Given the description of an element on the screen output the (x, y) to click on. 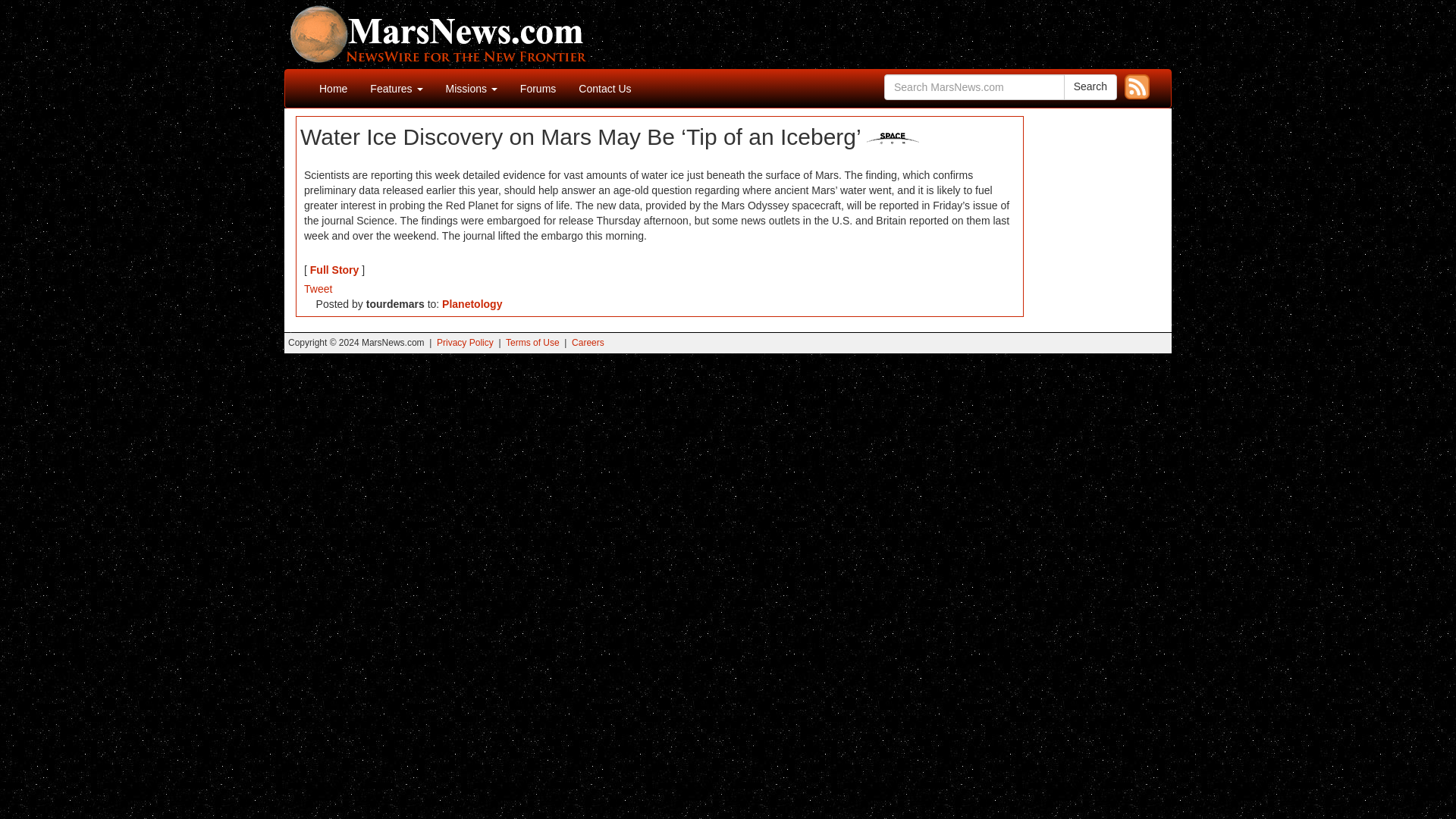
Home (332, 88)
Planetology (472, 304)
Features (395, 88)
Contact Us (604, 88)
Full Story (334, 269)
Home (332, 88)
Missions (470, 88)
Tweet (317, 288)
Privacy Policy (464, 342)
Missions (470, 88)
Terms of Use (532, 342)
Search (1090, 86)
Forums (537, 88)
Features (395, 88)
